Given the description of an element on the screen output the (x, y) to click on. 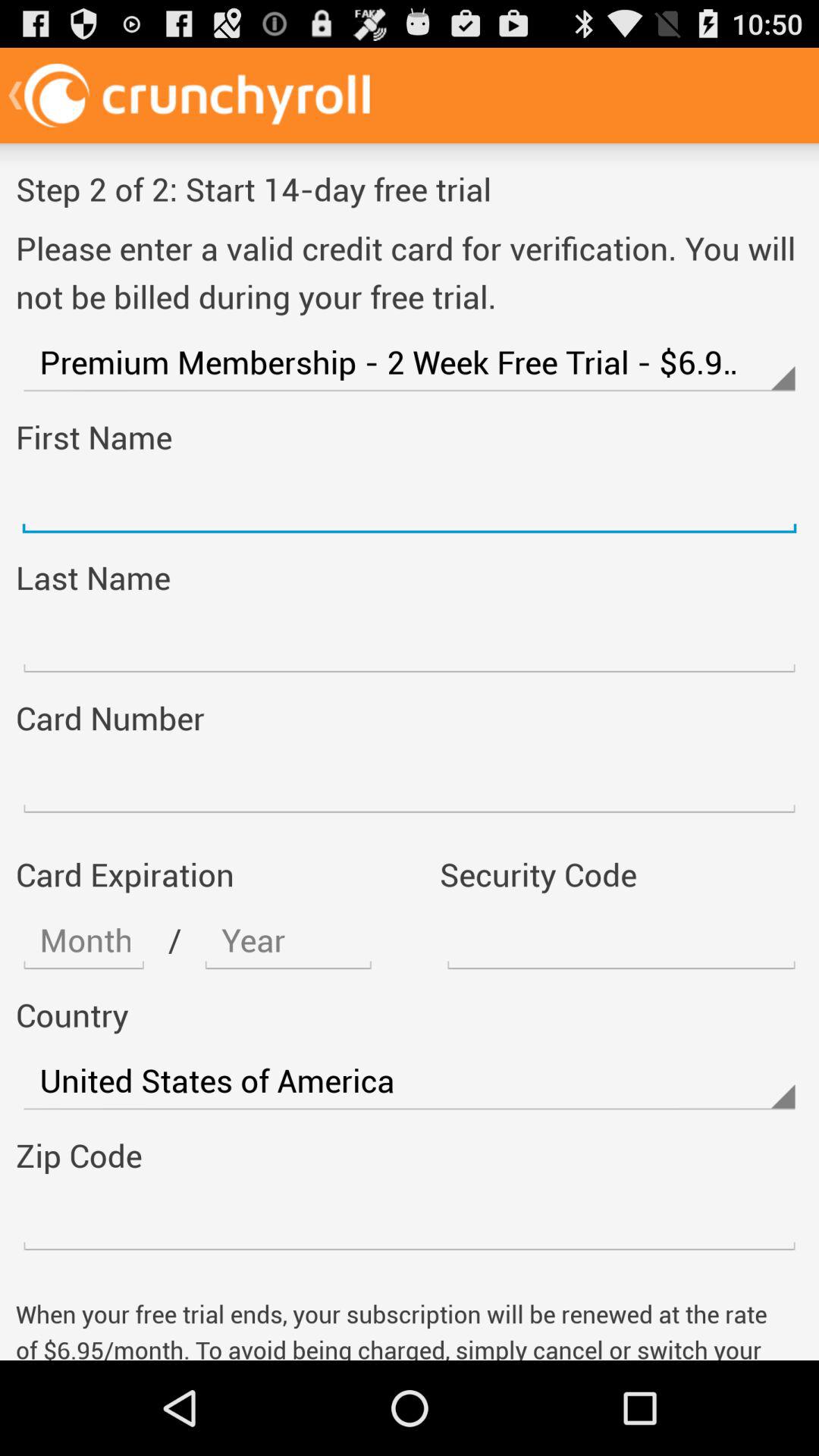
text box (409, 1221)
